Given the description of an element on the screen output the (x, y) to click on. 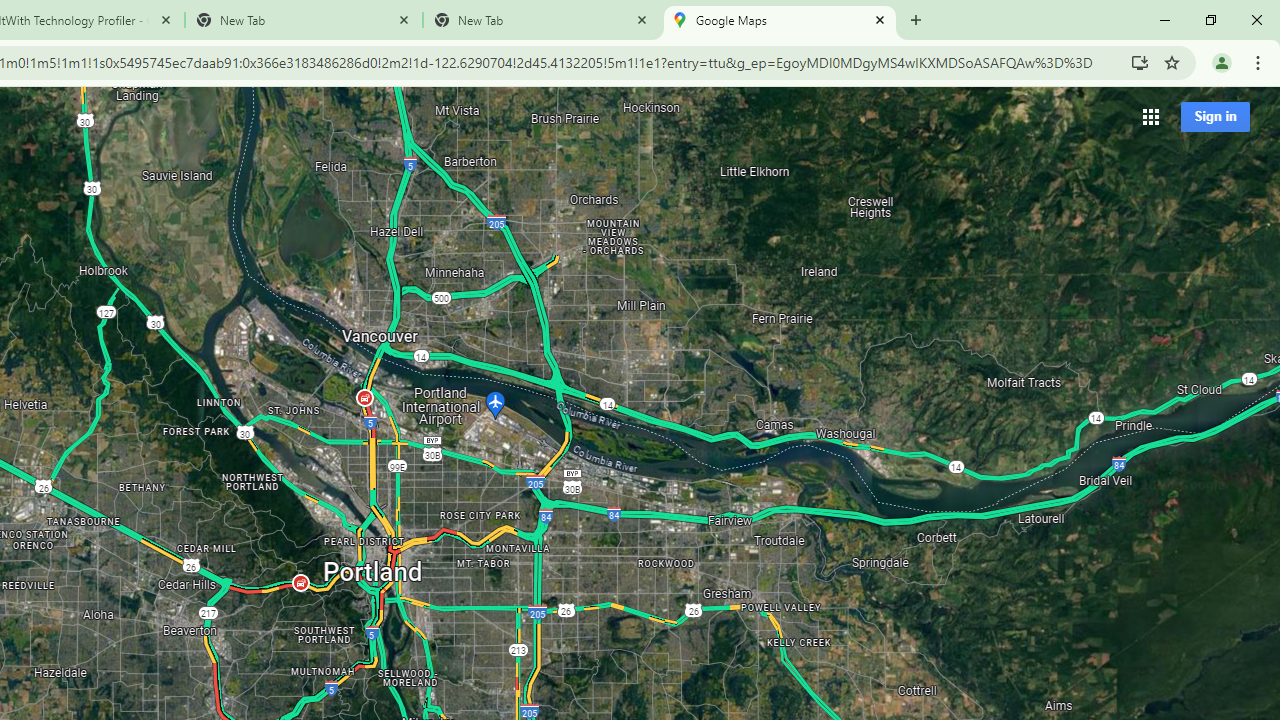
Install Google Maps (1139, 62)
Google Maps (779, 20)
New Tab (541, 20)
